Given the description of an element on the screen output the (x, y) to click on. 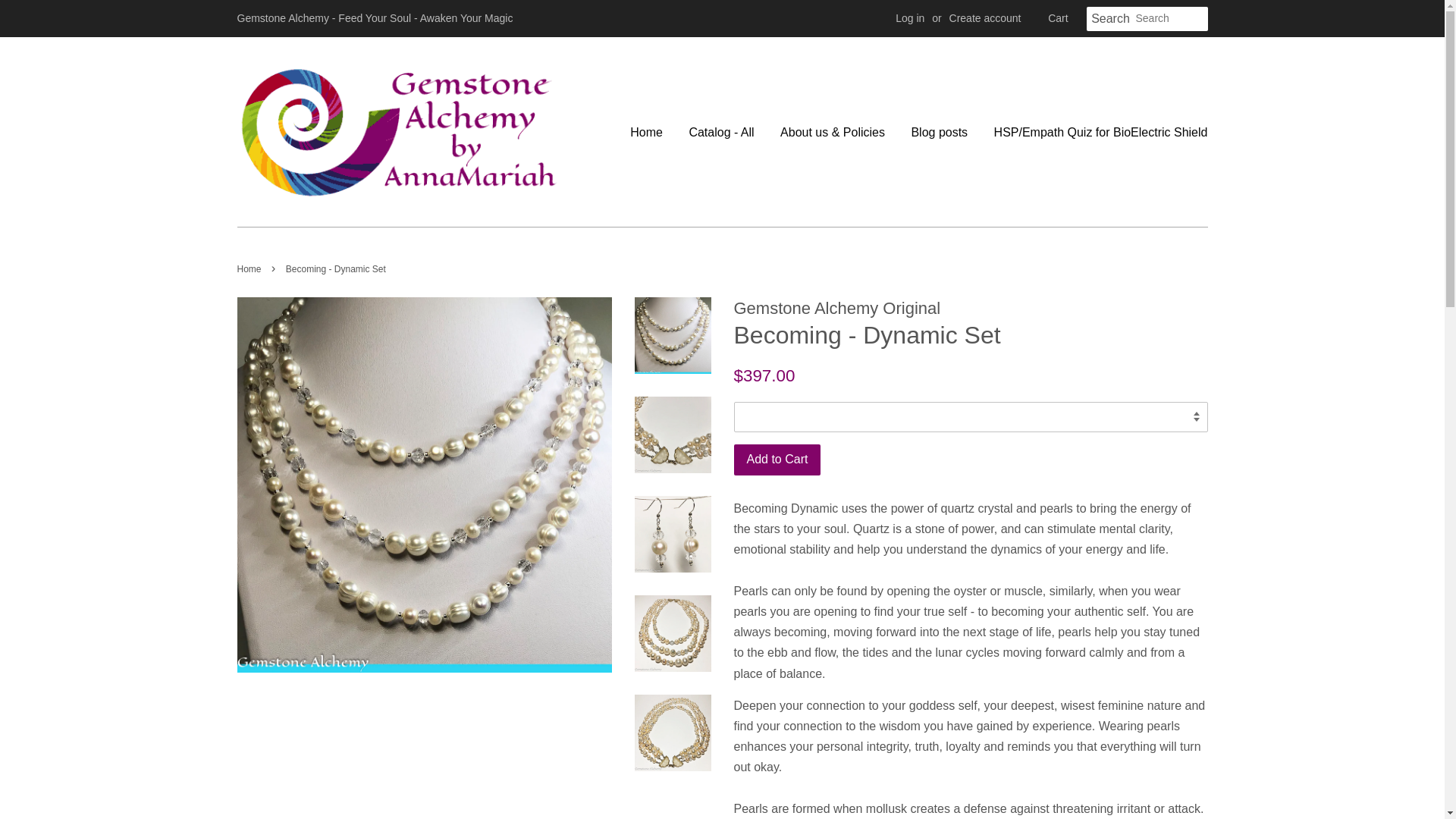
Log in (909, 18)
Search (1110, 18)
Home (652, 131)
Catalog - All (721, 131)
Back to the frontpage (249, 268)
Cart (1057, 18)
Create account (985, 18)
